Given the description of an element on the screen output the (x, y) to click on. 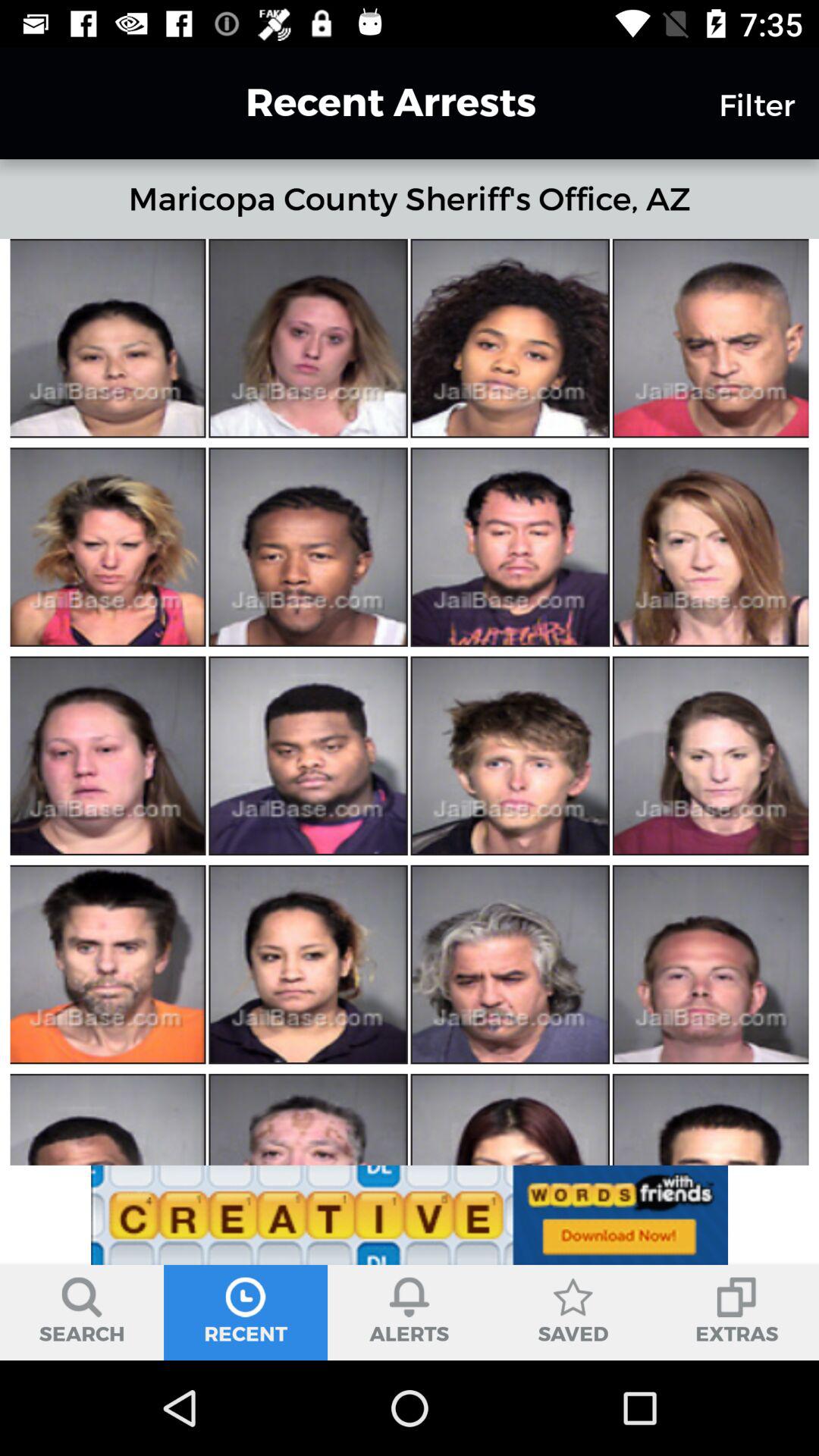
launch item above the maricopa county sheriff item (363, 102)
